Given the description of an element on the screen output the (x, y) to click on. 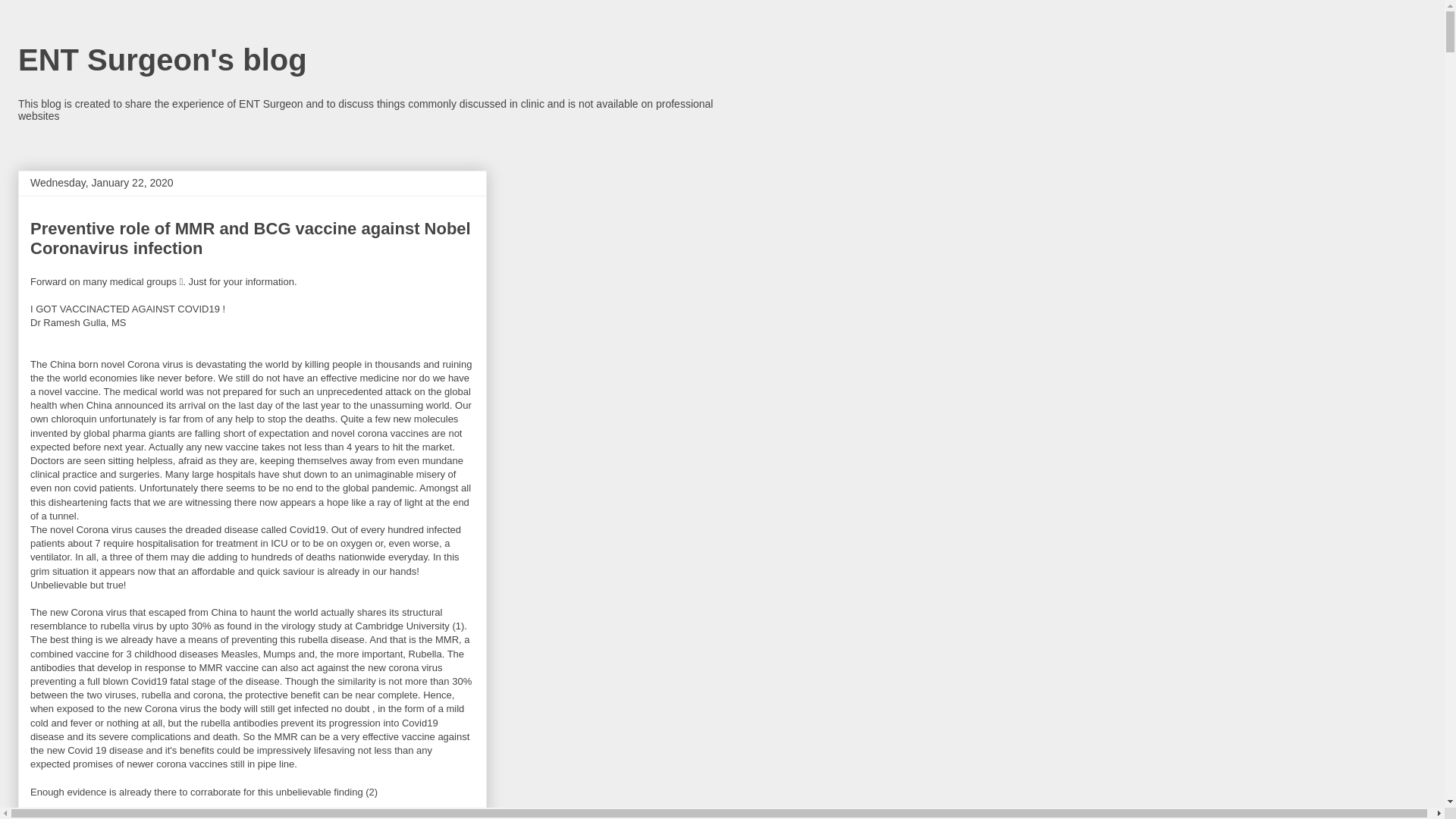
ENT Surgeon's blog (162, 59)
